Given the description of an element on the screen output the (x, y) to click on. 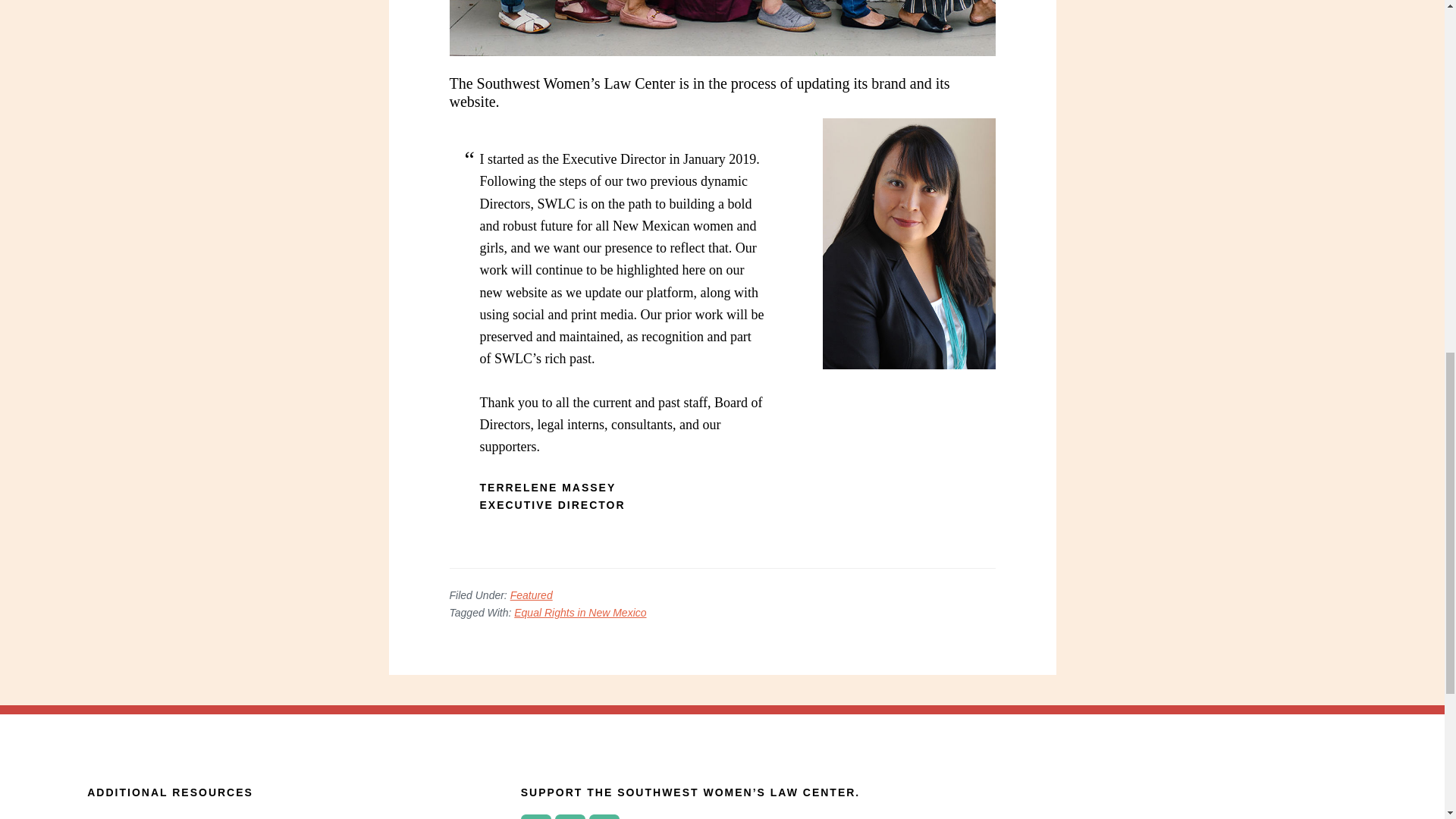
Equal Rights in New Mexico (579, 612)
Featured (532, 594)
Resources (119, 818)
